Given the description of an element on the screen output the (x, y) to click on. 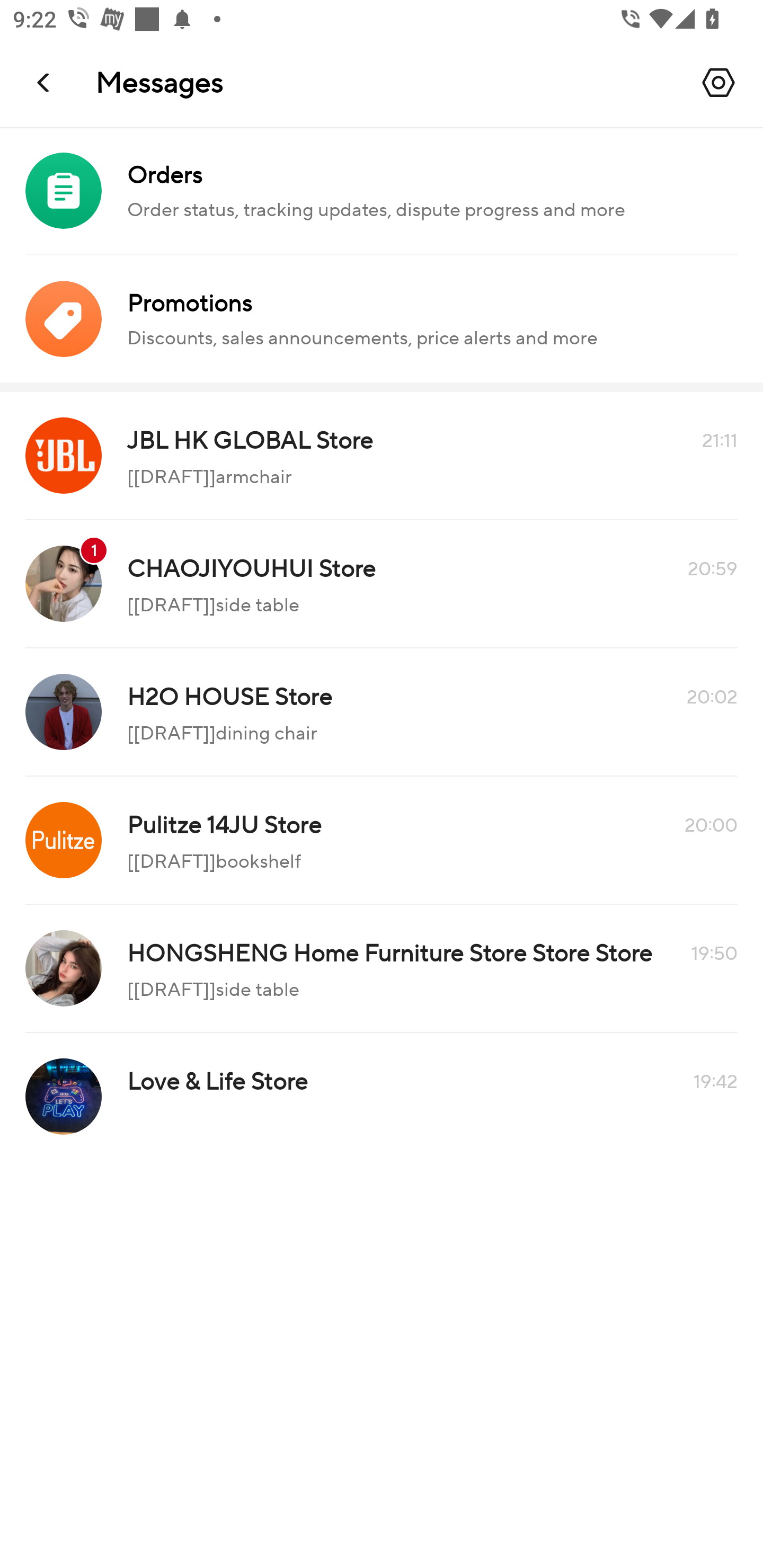
Navigate up (44, 82)
